Given the description of an element on the screen output the (x, y) to click on. 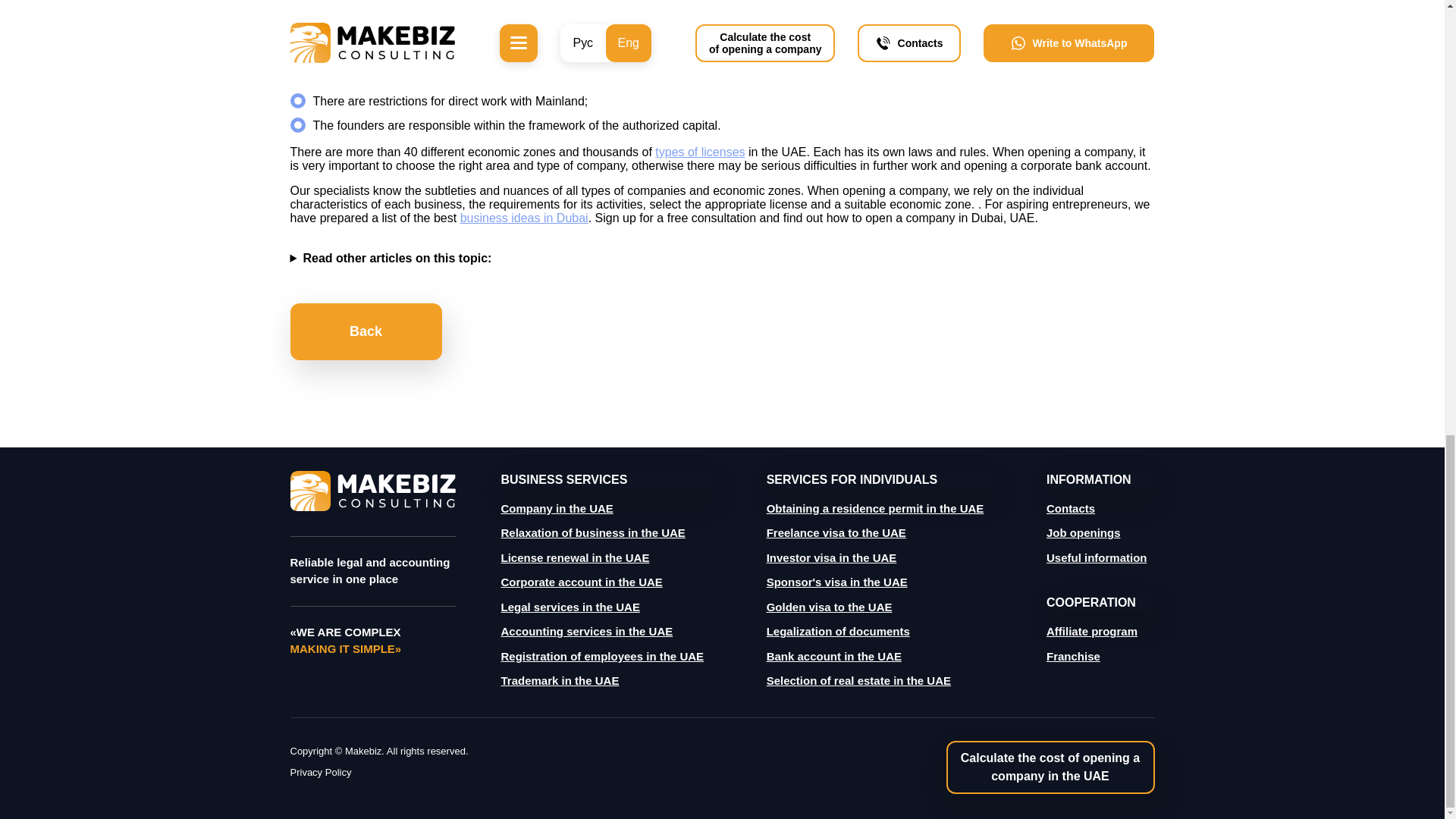
Company in the UAE (556, 508)
business ideas in Dubai (524, 217)
License renewal in the UAE (574, 557)
types of licenses (699, 151)
Corporate account in the UAE (581, 581)
Relaxation of business in the UAE (592, 532)
Back (365, 331)
